Given the description of an element on the screen output the (x, y) to click on. 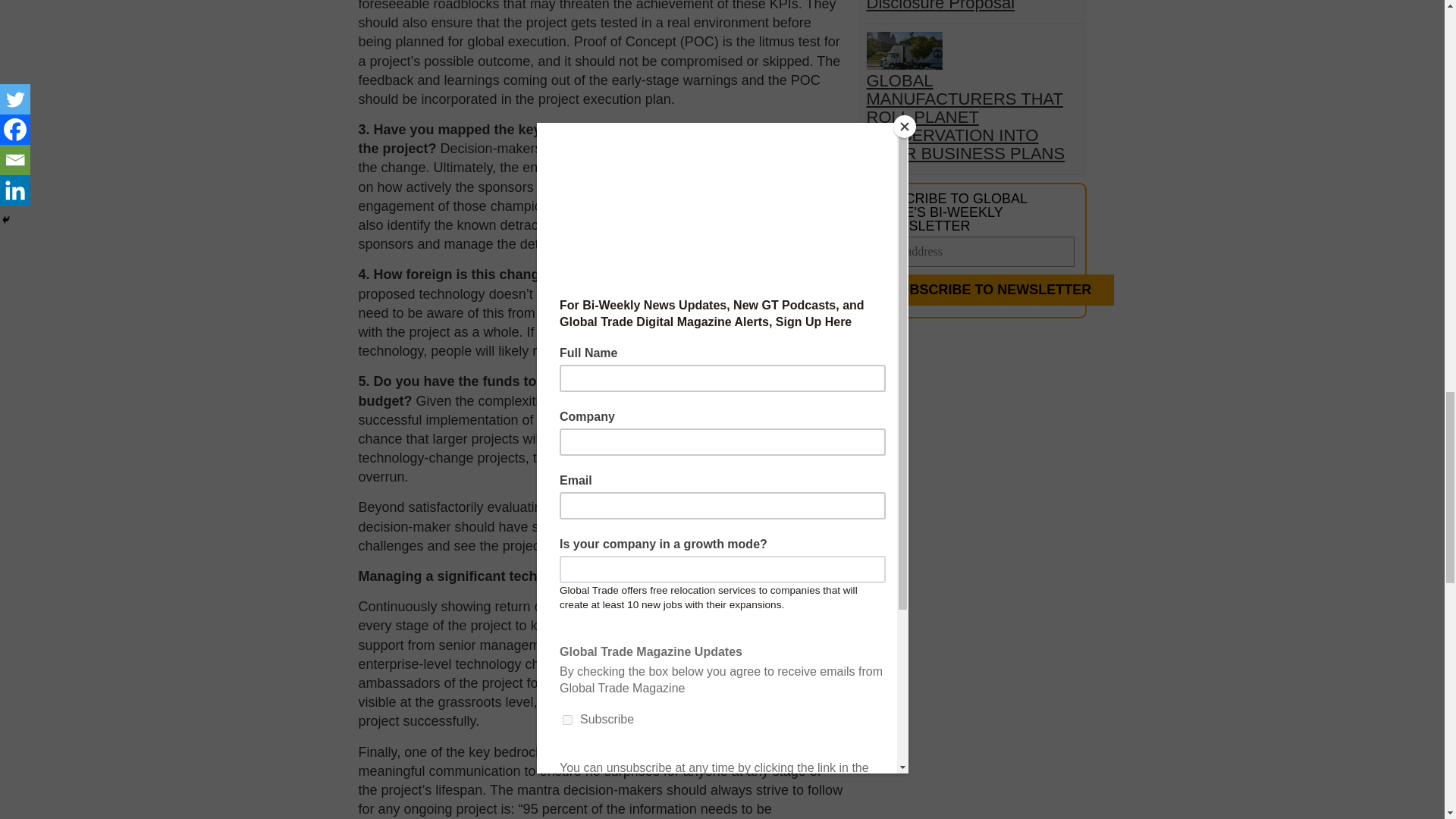
Subscribe to Newsletter (990, 289)
